Given the description of an element on the screen output the (x, y) to click on. 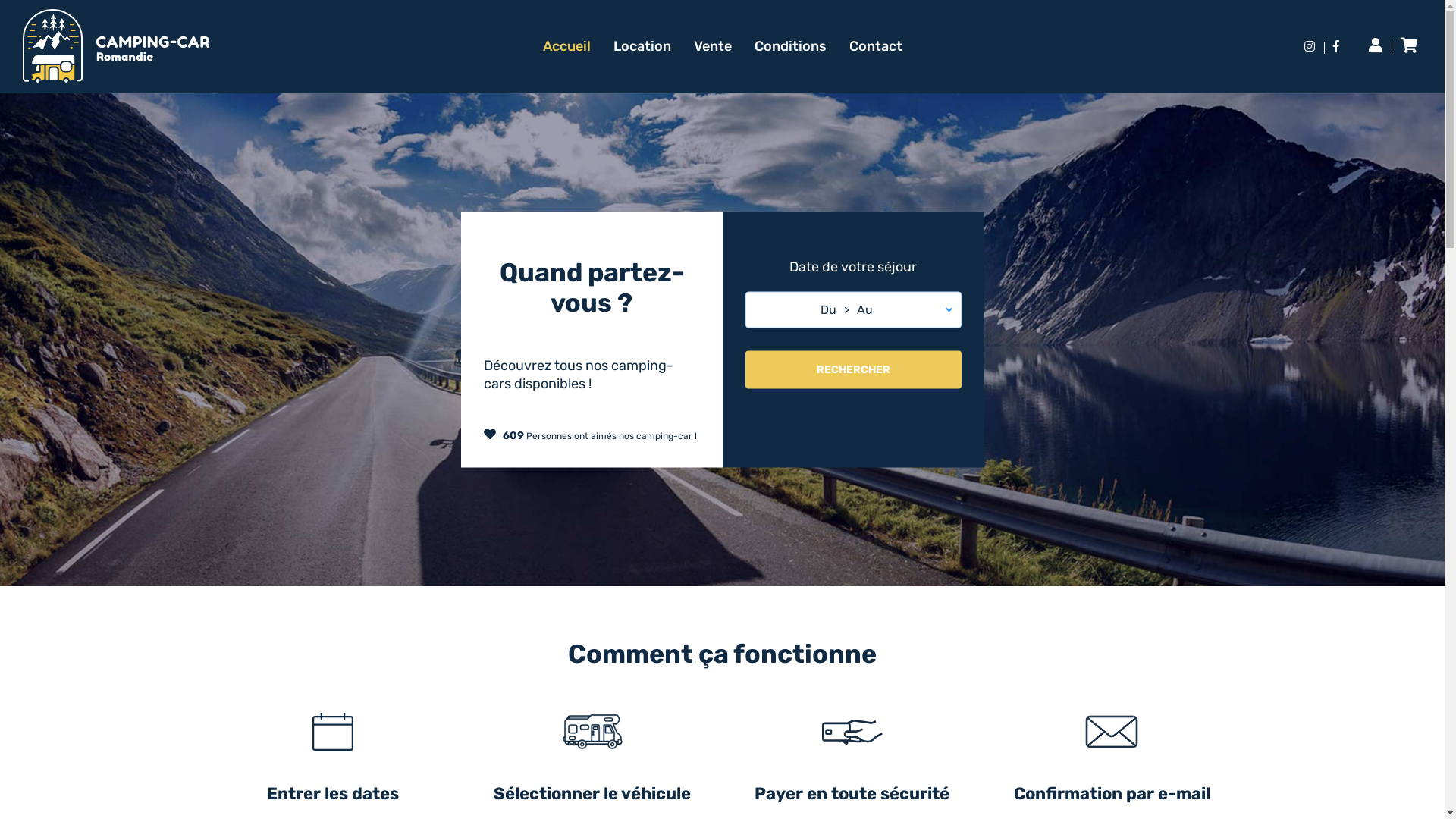
RECHERCHER Element type: text (852, 369)
Location Element type: text (641, 45)
Vente Element type: text (712, 45)
Accueil Element type: text (566, 45)
Conditions Element type: text (789, 45)
Contact Element type: text (875, 45)
